Given the description of an element on the screen output the (x, y) to click on. 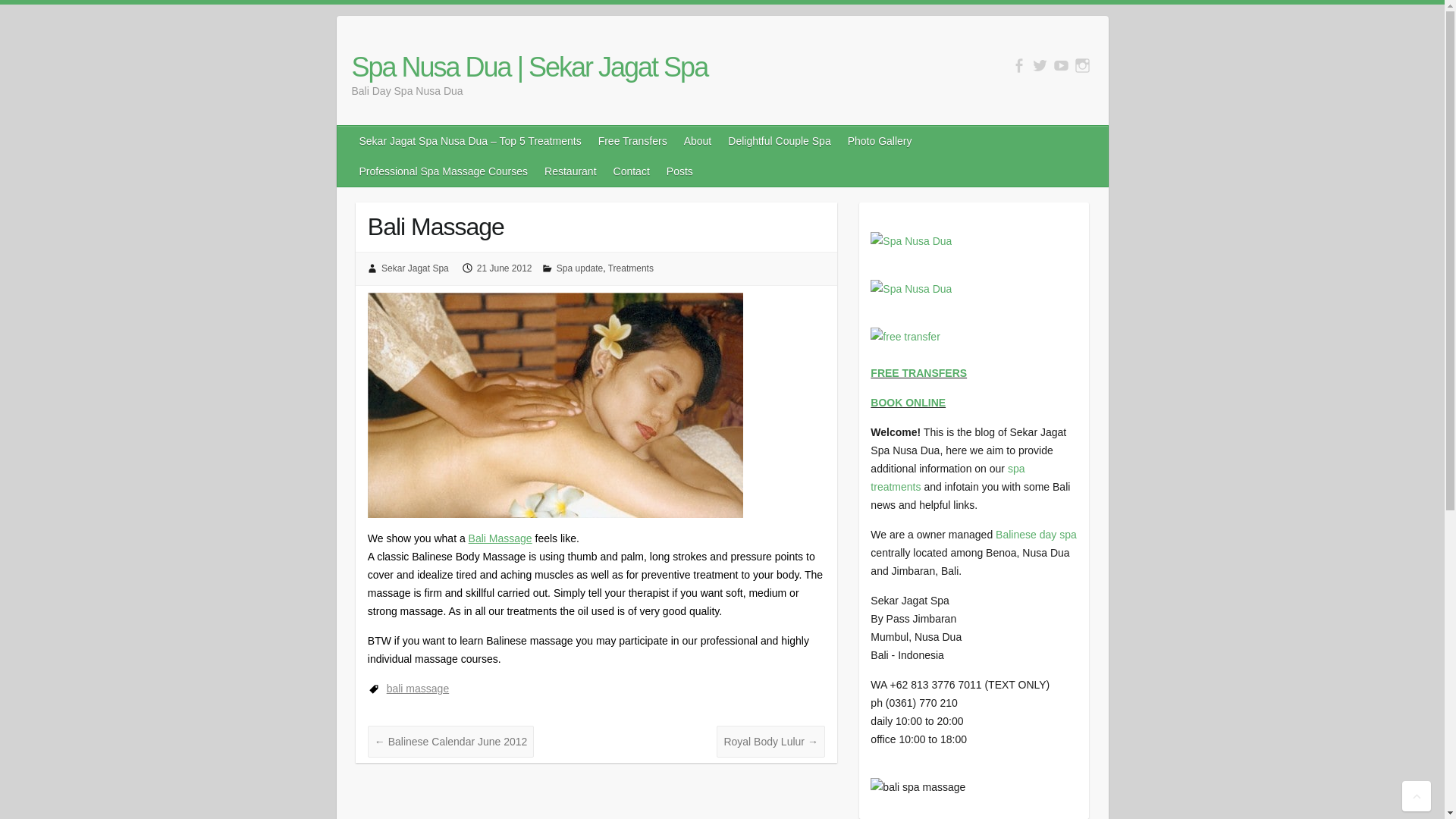
Spa update (579, 267)
spa treatments (947, 477)
Balinese day spa (1036, 534)
21 June 2012 (504, 267)
Professional Spa Massage Courses (444, 171)
Bali Massage (555, 404)
Photo Gallery (880, 141)
Posts (680, 171)
Contact (632, 171)
Restaurant (571, 171)
Bali massage (500, 538)
About (698, 141)
Delightful Couple Spa (780, 141)
BOOK ONLINE (907, 402)
